Given the description of an element on the screen output the (x, y) to click on. 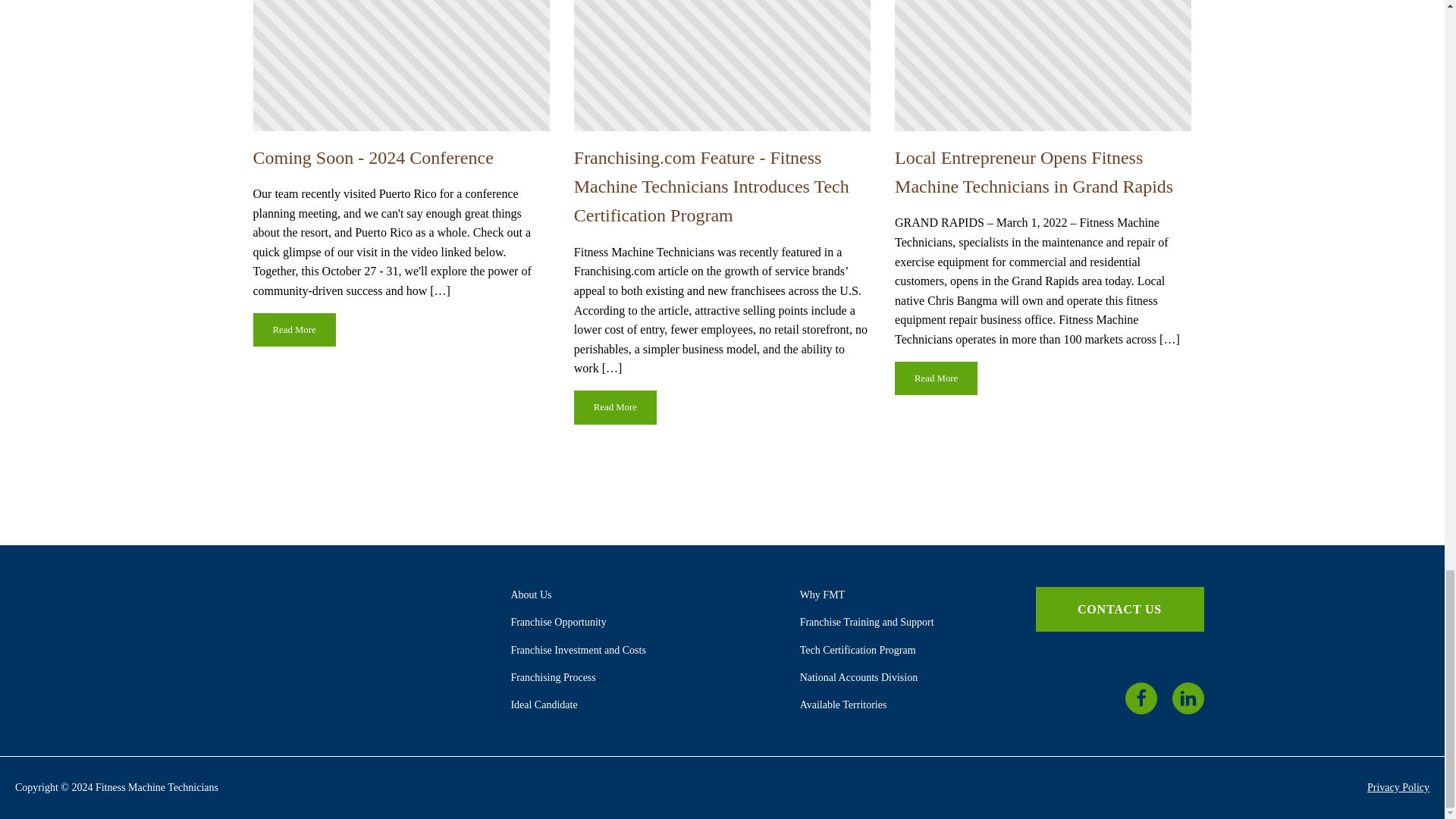
Coming Soon - 2024 Conference (373, 157)
Tech Certification Program (857, 650)
May 28, 2024 (401, 65)
March 14, 2024 (1043, 65)
About Us (531, 594)
Franchise Opportunity (558, 622)
Why FMT (822, 594)
National Accounts Division (858, 677)
Ideal Candidate (543, 704)
May 6, 2024 (721, 65)
Franchise Investment and Costs (578, 650)
Franchise Training and Support (866, 622)
Available Territories (842, 704)
CONTACT US (1119, 609)
Franchising Process (553, 677)
